Given the description of an element on the screen output the (x, y) to click on. 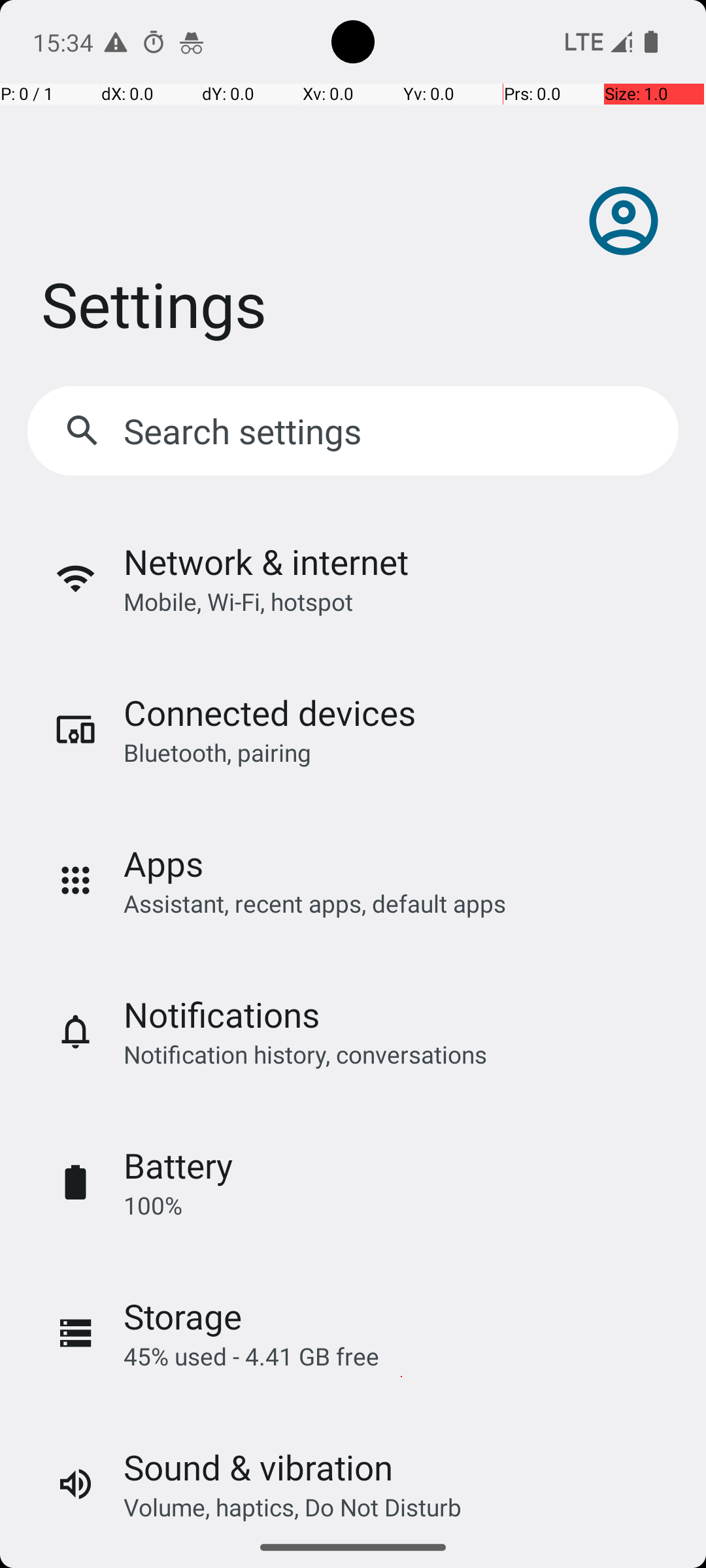
Profile picture, double tap to open Google Account Element type: android.widget.ImageView (623, 220)
Search settings Element type: android.widget.TextView (245, 430)
Network & internet Element type: android.widget.TextView (265, 561)
Mobile, Wi‑Fi, hotspot Element type: android.widget.TextView (238, 601)
Connected devices Element type: android.widget.TextView (269, 712)
Bluetooth, pairing Element type: android.widget.TextView (217, 751)
Apps Element type: android.widget.TextView (163, 863)
Assistant, recent apps, default apps Element type: android.widget.TextView (314, 902)
Notification history, conversations Element type: android.widget.TextView (305, 1053)
Battery Element type: android.widget.TextView (178, 1165)
100% Element type: android.widget.TextView (152, 1204)
Storage Element type: android.widget.TextView (182, 1315)
45% used - 4.41 GB free Element type: android.widget.TextView (251, 1355)
Sound & vibration Element type: android.widget.TextView (257, 1466)
Volume, haptics, Do Not Disturb Element type: android.widget.TextView (292, 1506)
